Given the description of an element on the screen output the (x, y) to click on. 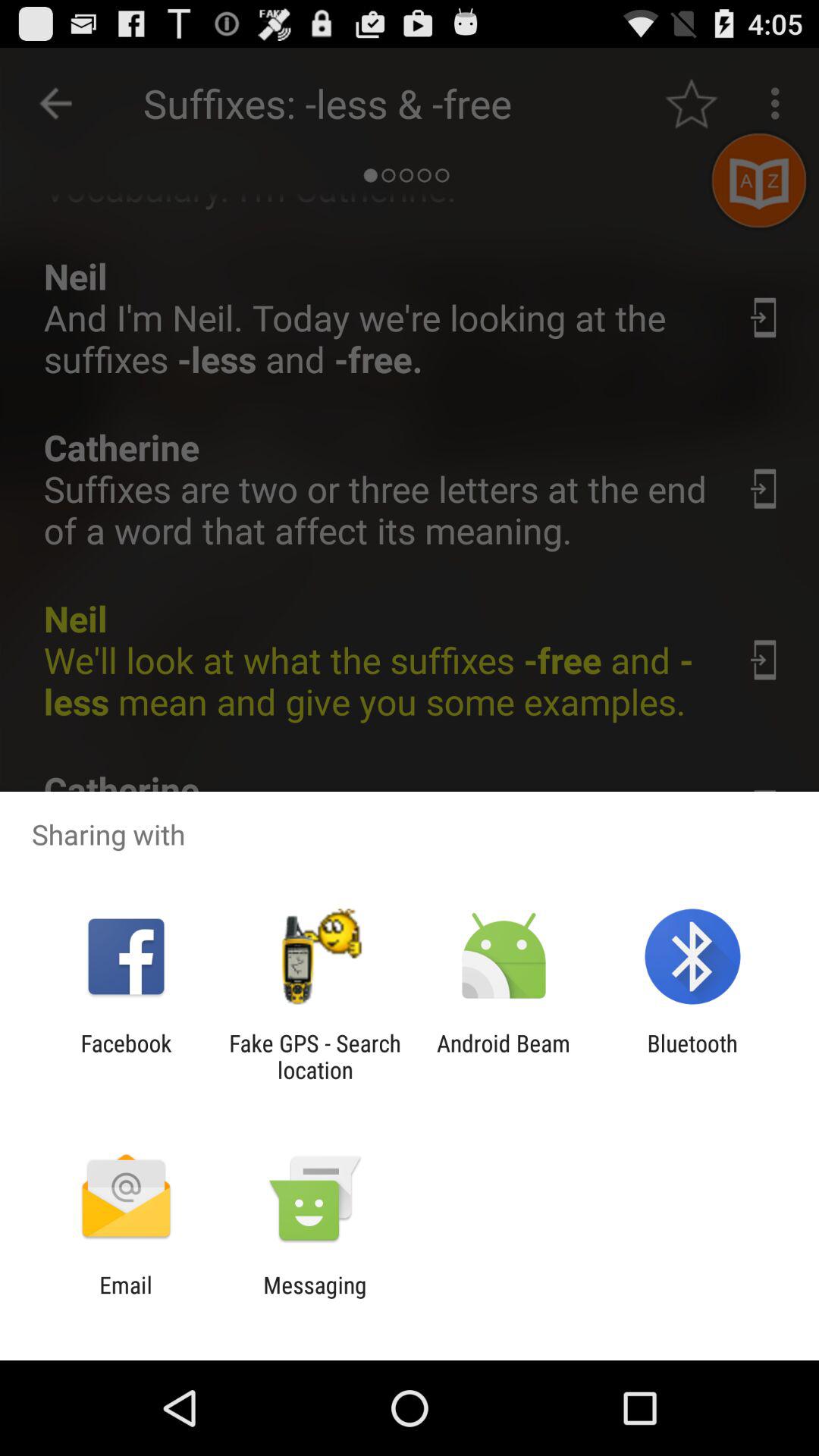
select facebook item (125, 1056)
